Given the description of an element on the screen output the (x, y) to click on. 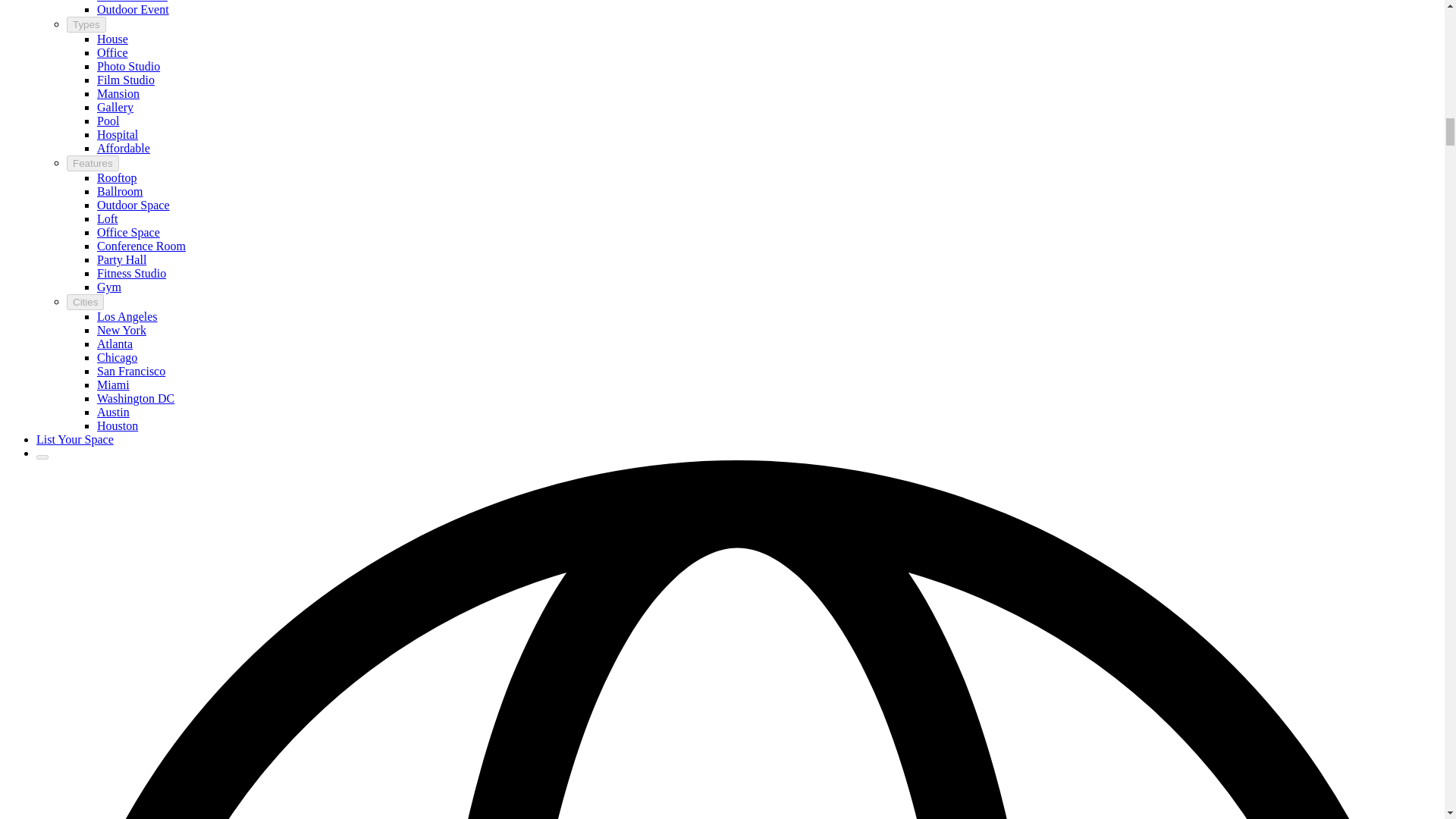
Office Space (128, 232)
Gallery (115, 106)
Bridal Shower (132, 1)
Loft (107, 218)
Rooftop (116, 177)
Hospital (117, 133)
Features (92, 163)
Affordable (123, 147)
Outdoor Space (133, 205)
Los Angeles (127, 316)
House (112, 38)
Gym (108, 286)
Party Hall (122, 259)
Photo Studio (128, 65)
Film Studio (125, 79)
